Given the description of an element on the screen output the (x, y) to click on. 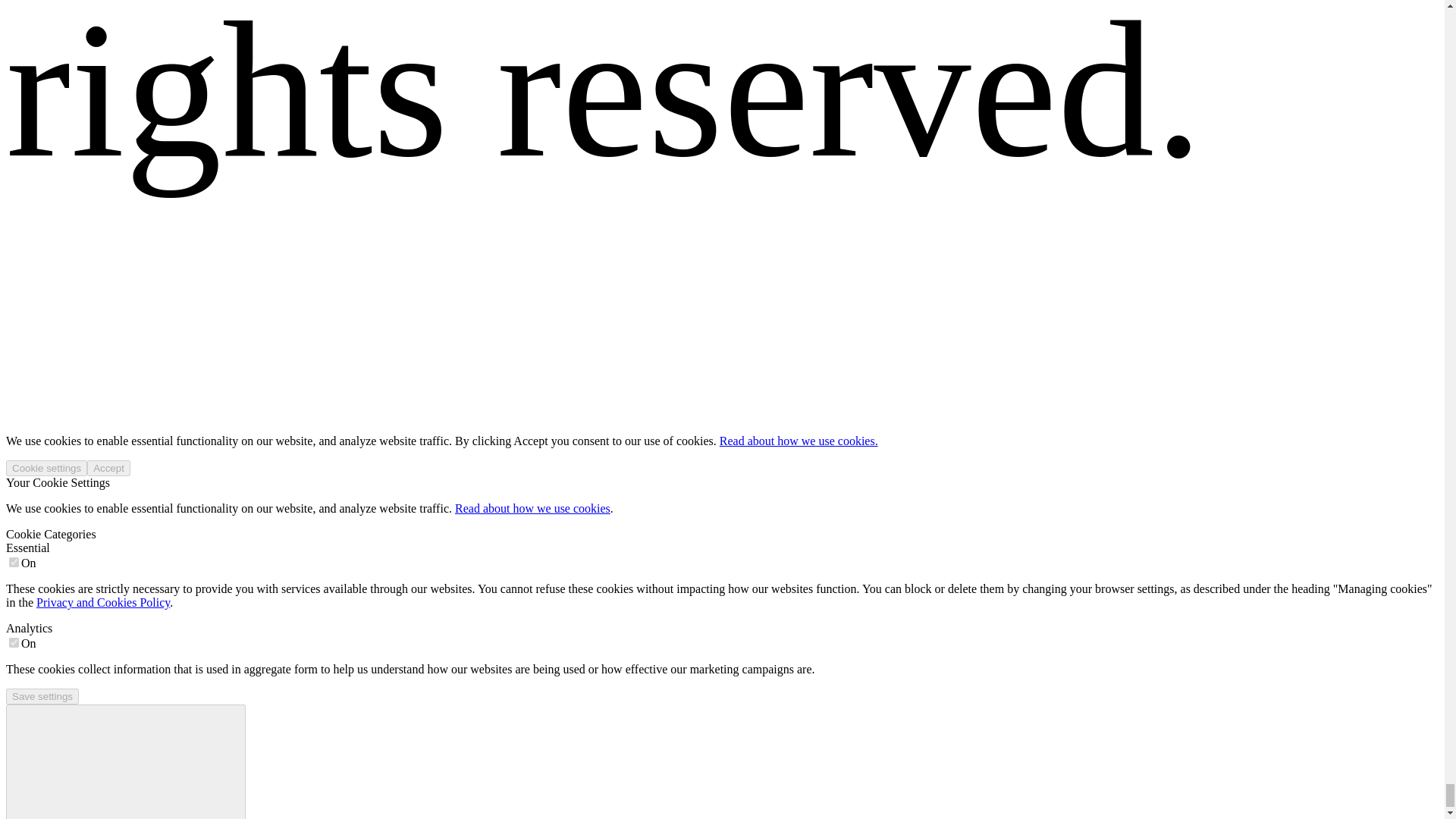
Accept (109, 467)
Read about how we use cookies. (798, 440)
Read about how we use cookies (532, 508)
on (13, 562)
Cookie settings (46, 467)
on (13, 642)
Privacy and Cookies Policy (103, 602)
Save settings (41, 696)
